Given the description of an element on the screen output the (x, y) to click on. 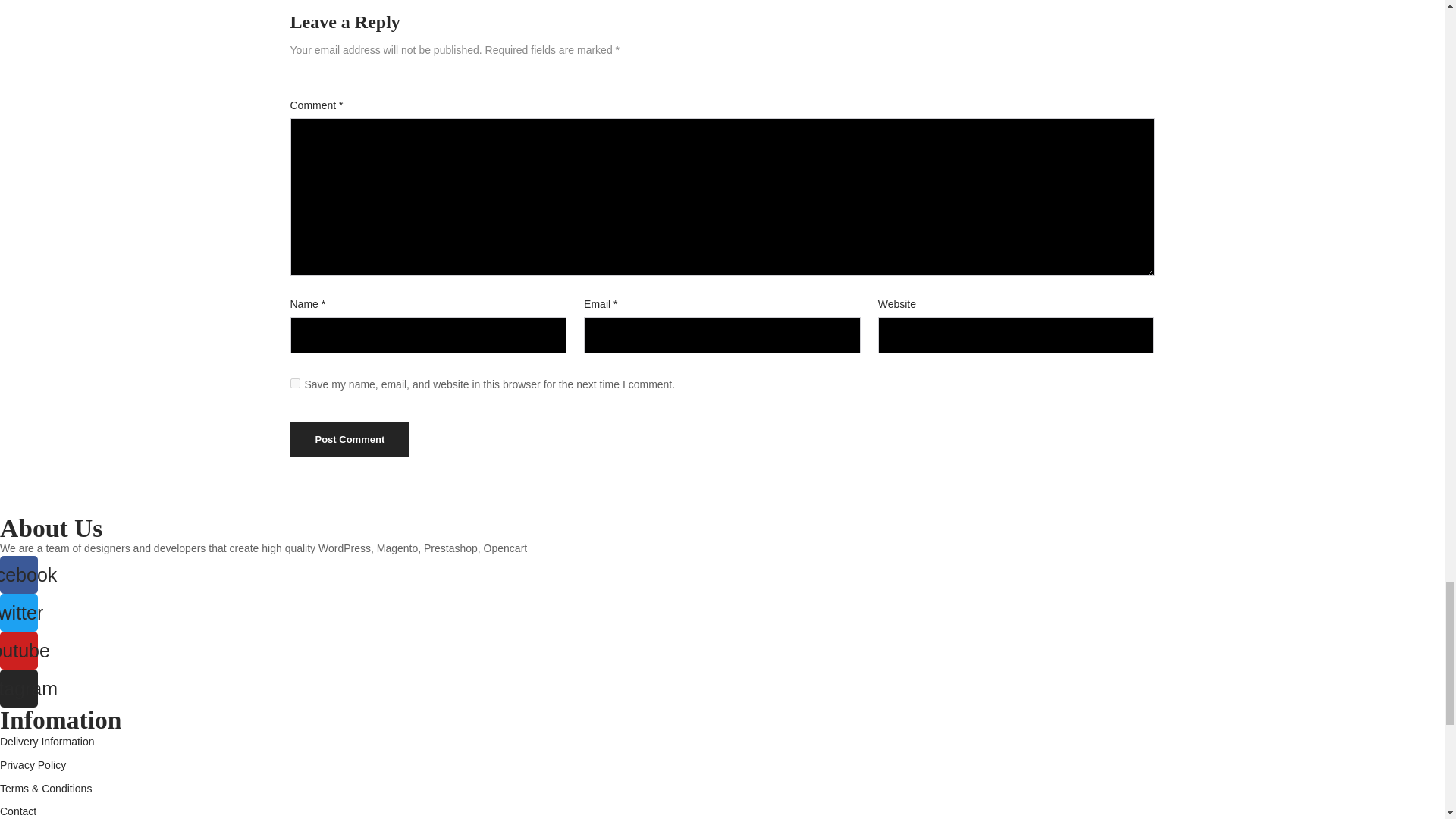
yes (294, 383)
Post Comment (349, 438)
